Given the description of an element on the screen output the (x, y) to click on. 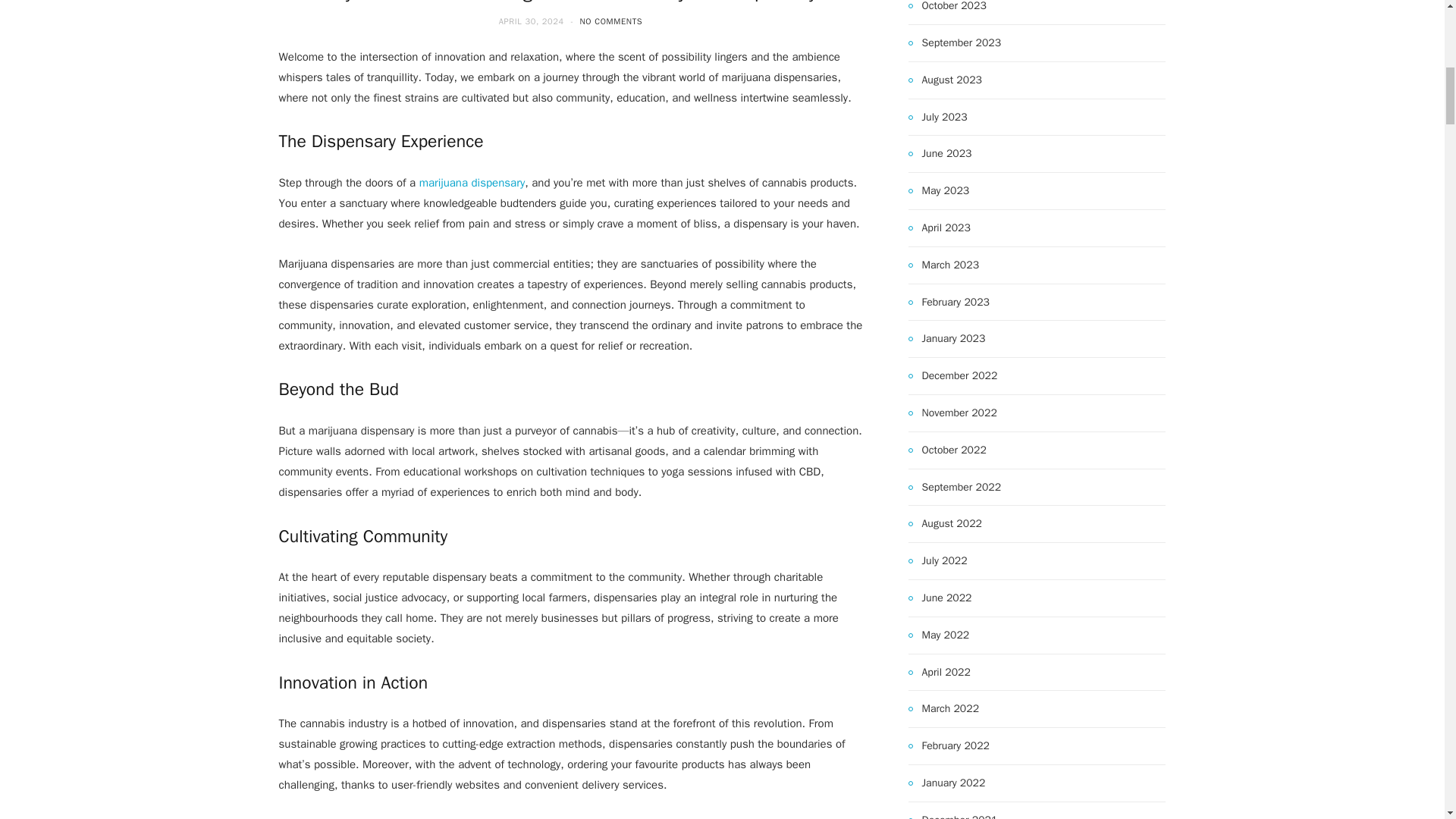
NO COMMENTS (610, 20)
marijuana dispensary (472, 182)
APRIL 30, 2024 (533, 20)
